Given the description of an element on the screen output the (x, y) to click on. 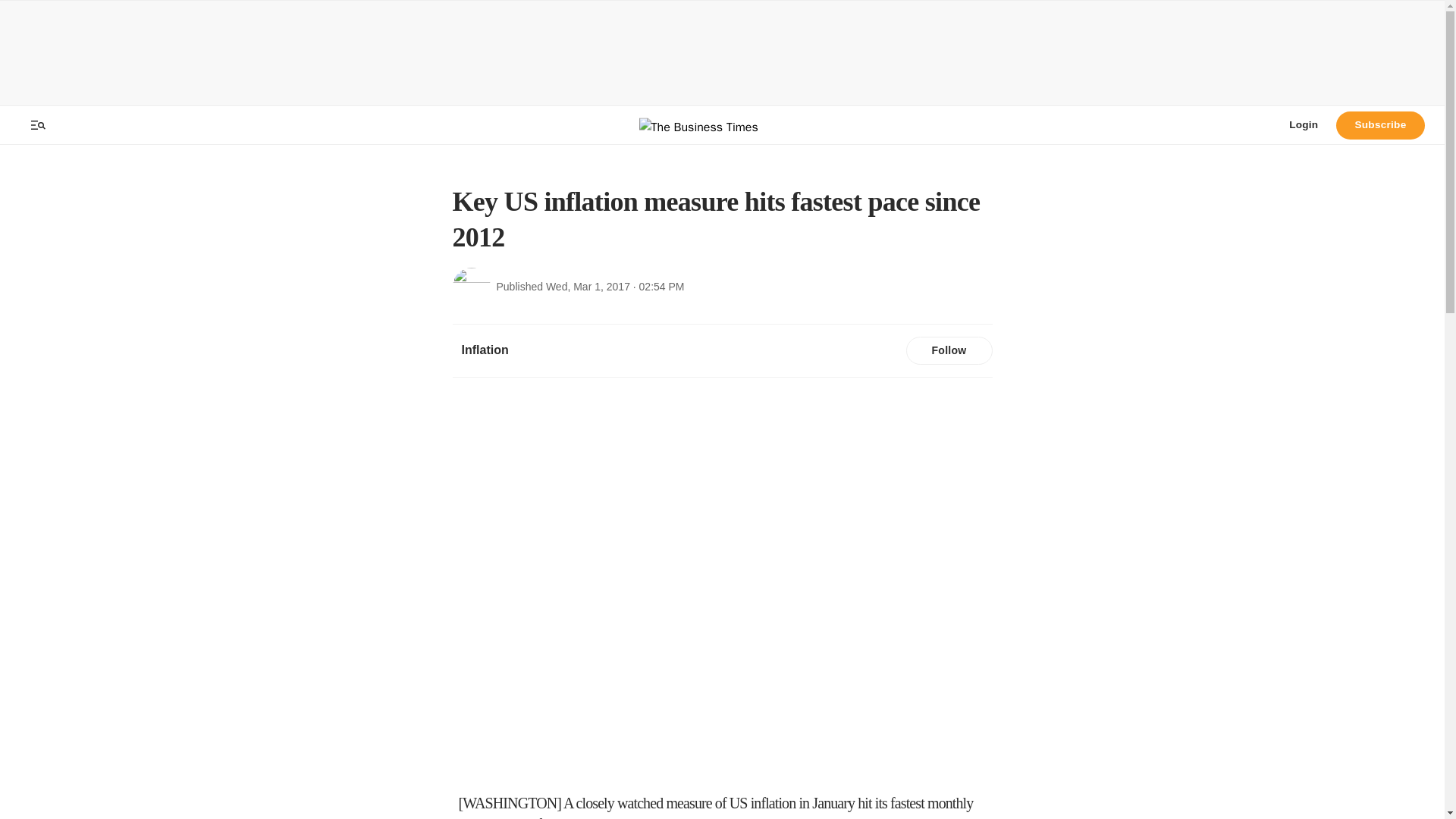
The Business Times (722, 124)
Subscribe (1379, 124)
Inflation (483, 350)
Follow (948, 350)
Login (1302, 124)
